Given the description of an element on the screen output the (x, y) to click on. 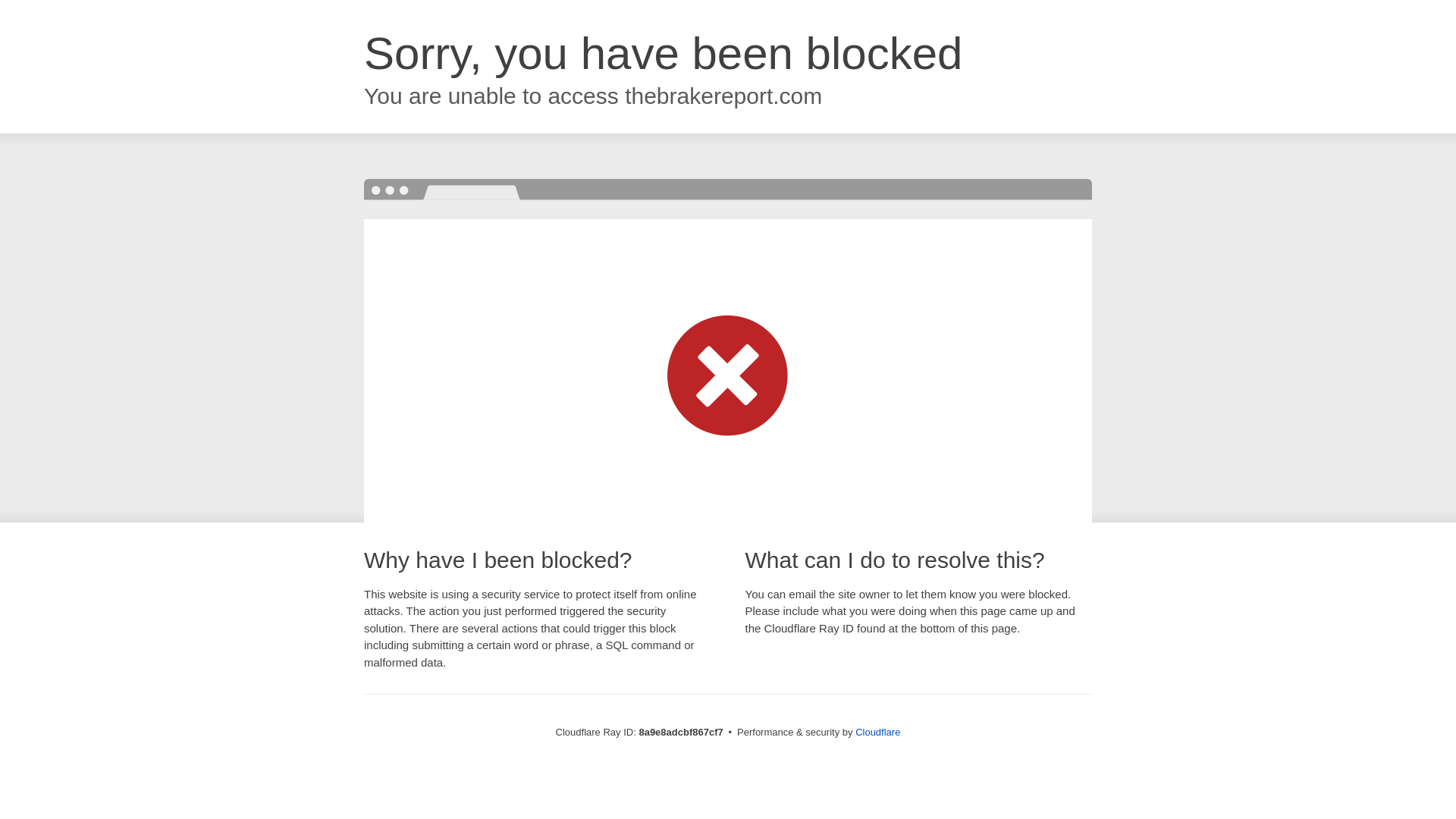
Cloudflare (877, 731)
